Given the description of an element on the screen output the (x, y) to click on. 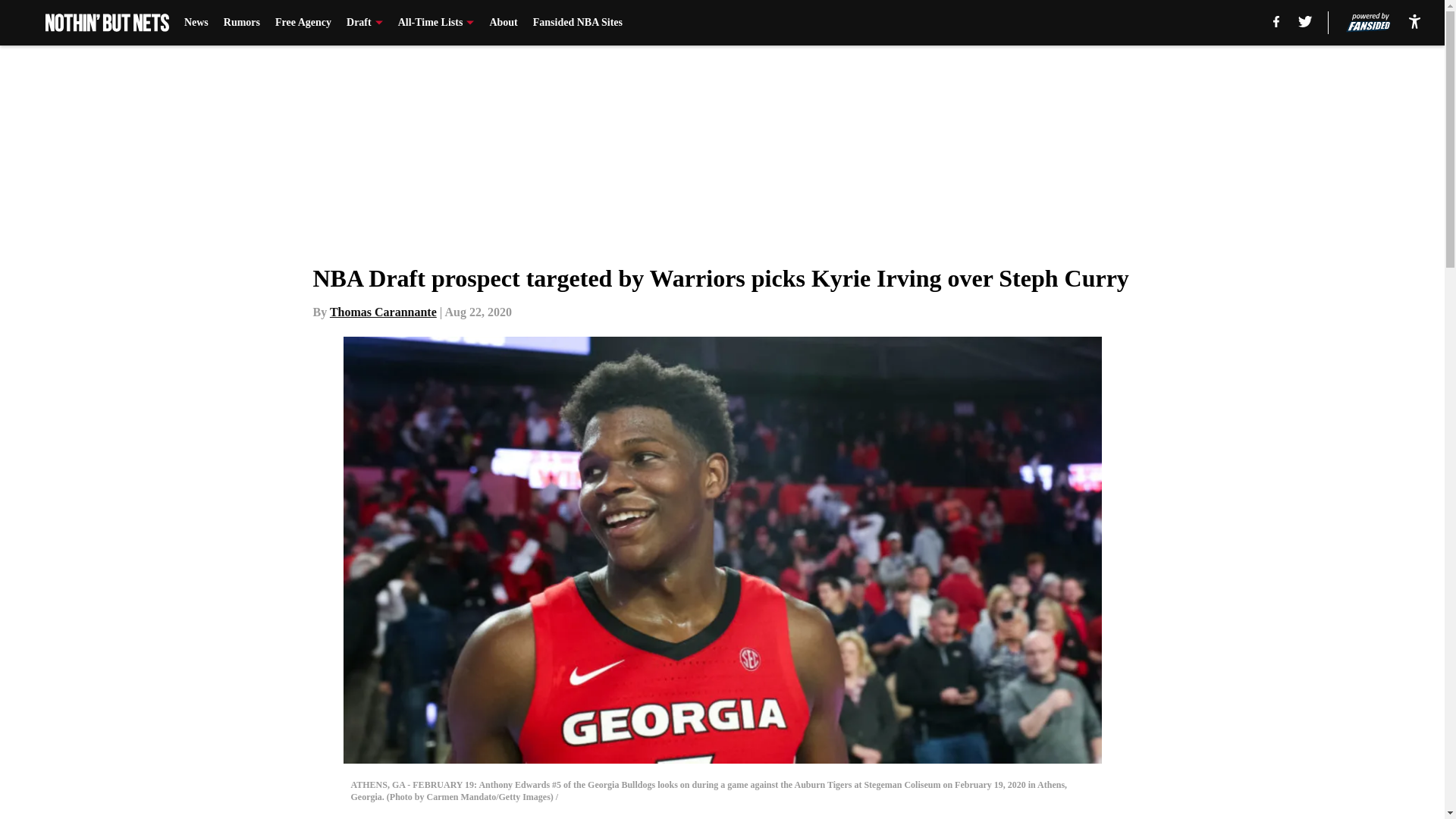
About (502, 22)
Fansided NBA Sites (577, 22)
News (196, 22)
Free Agency (303, 22)
Thomas Carannante (383, 311)
Rumors (242, 22)
